Given the description of an element on the screen output the (x, y) to click on. 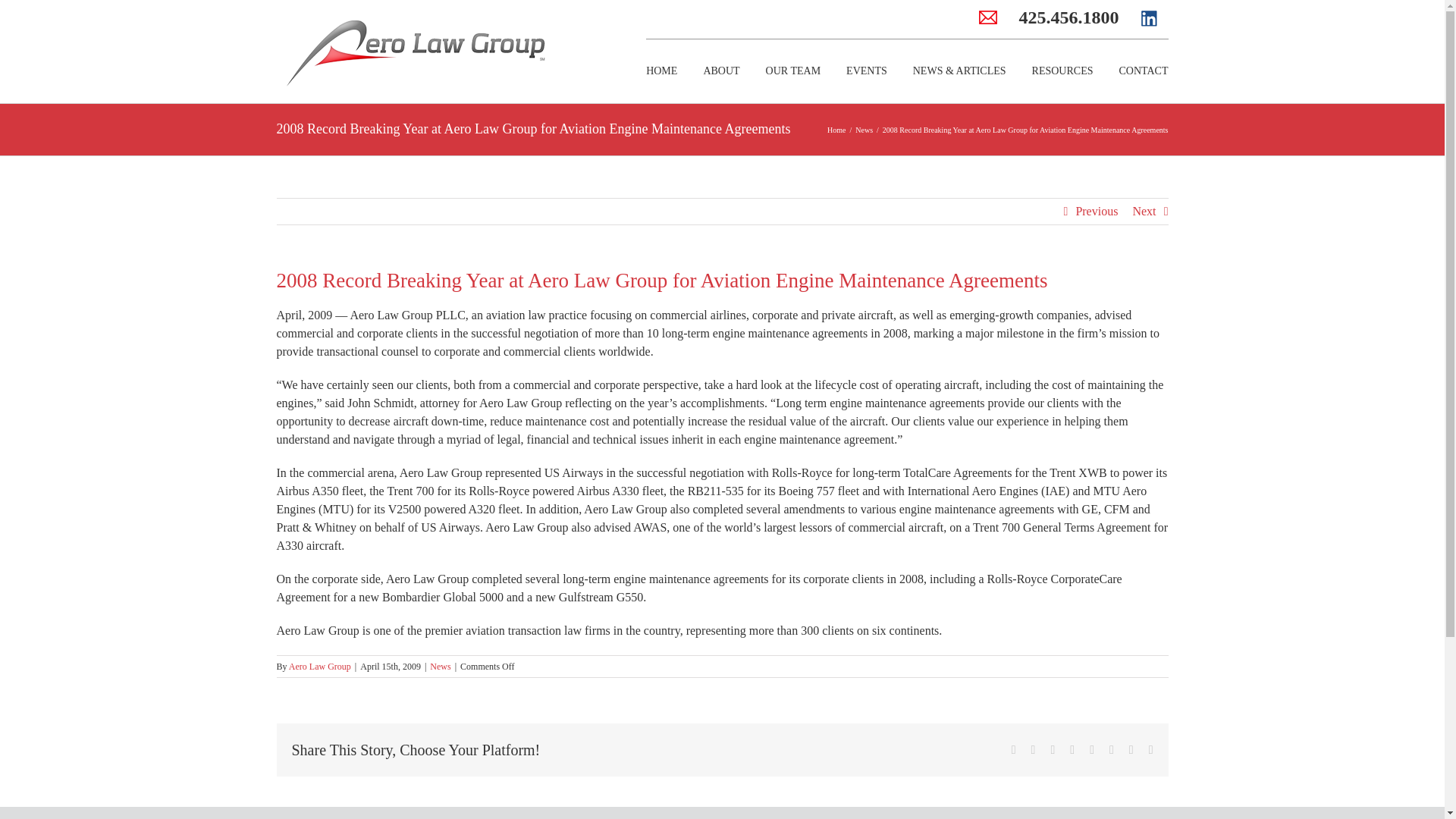
425.456.1800 (1069, 17)
HOME (661, 71)
RESOURCES (1062, 71)
EVENTS (865, 71)
OUR TEAM (793, 71)
ABOUT (721, 71)
Posts by Aero Law Group (319, 665)
CONTACT (1144, 71)
